Given the description of an element on the screen output the (x, y) to click on. 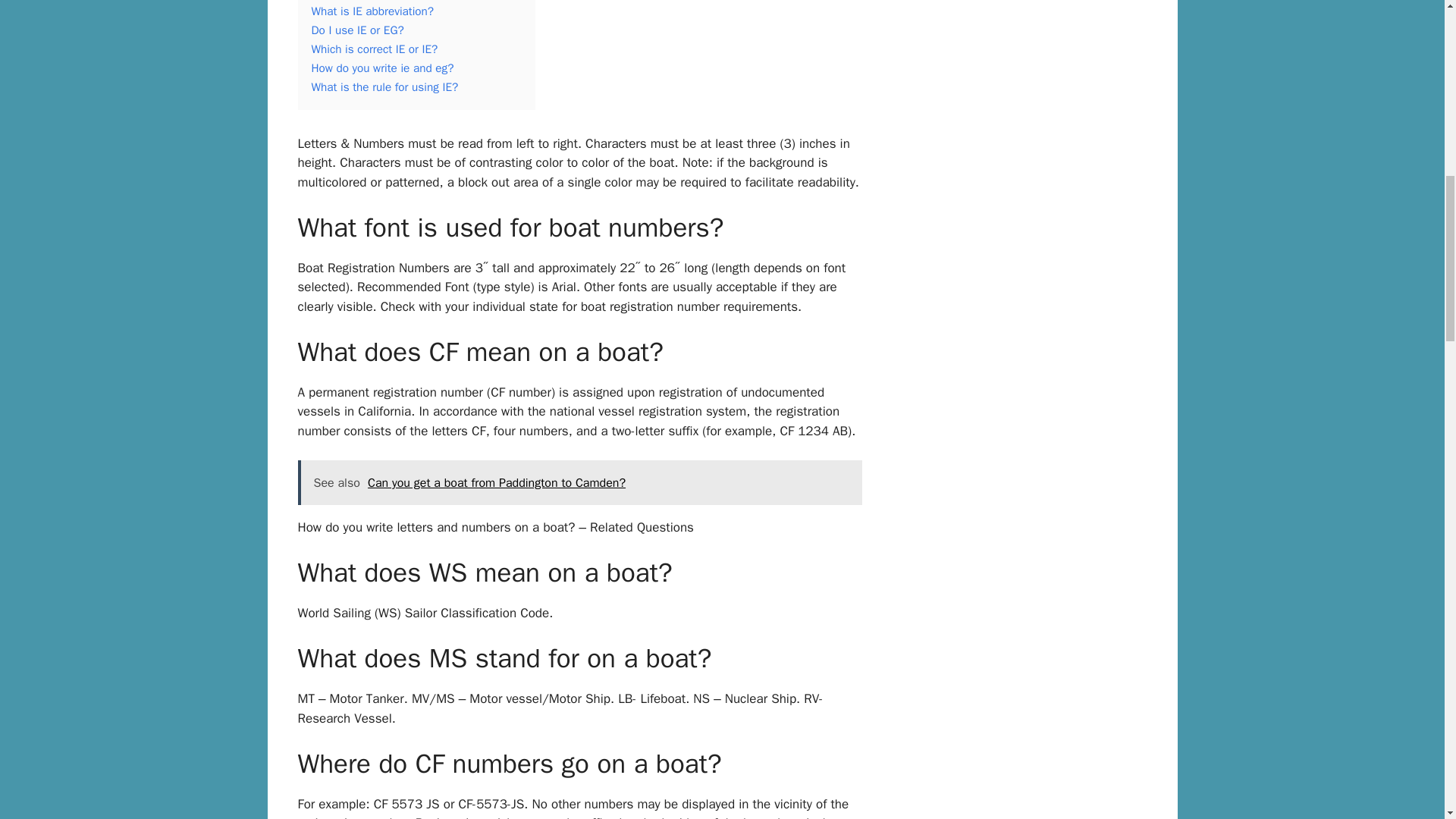
Scroll back to top (1406, 719)
What is the rule for using IE? (384, 87)
Which is correct IE or IE? (374, 48)
How do you write ie and eg? (381, 68)
See also  Can you get a boat from Paddington to Camden? (579, 483)
What is IE abbreviation? (372, 11)
Do I use IE or EG? (357, 29)
